Given the description of an element on the screen output the (x, y) to click on. 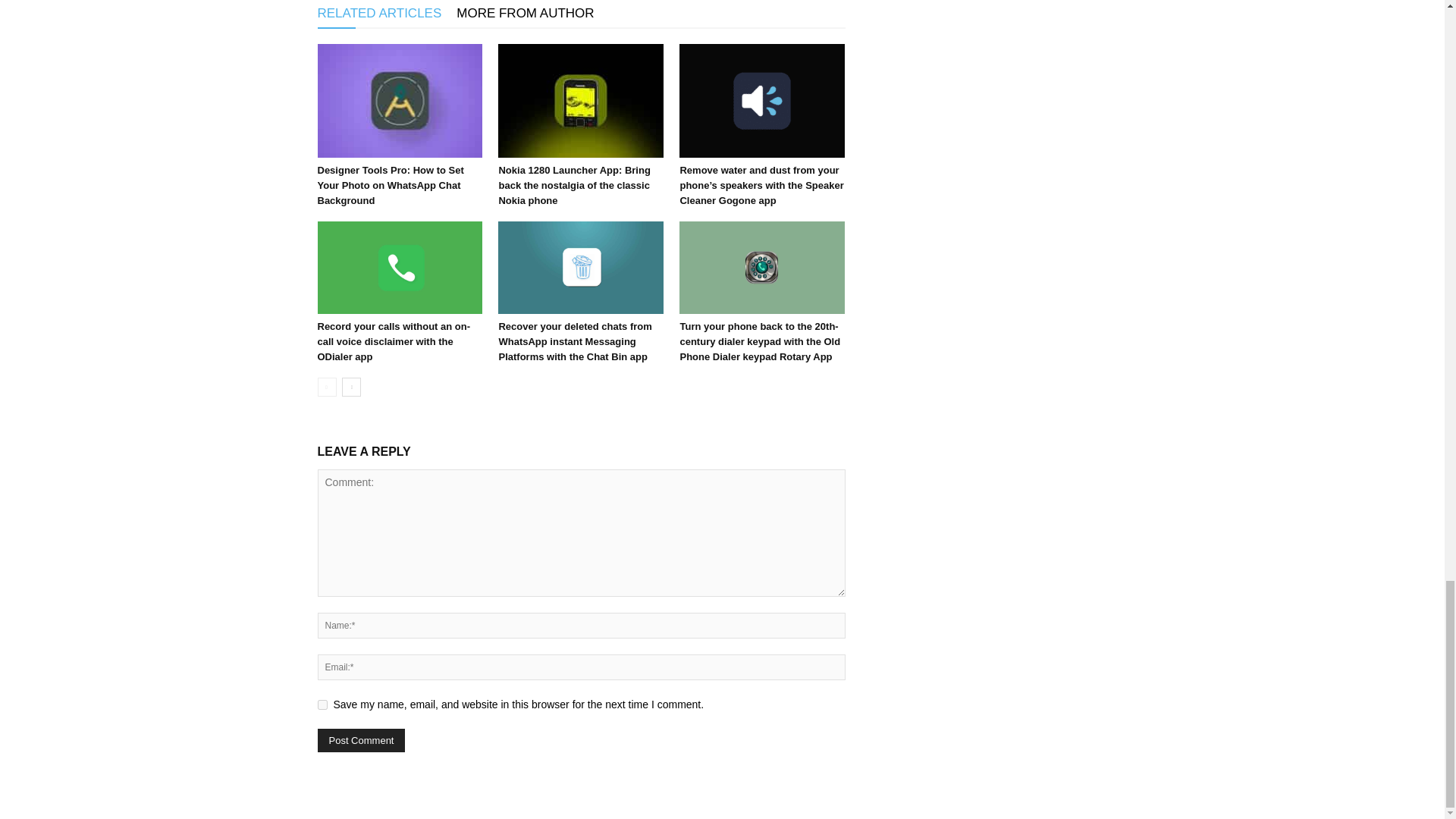
yes (321, 705)
Post Comment (360, 740)
